Given the description of an element on the screen output the (x, y) to click on. 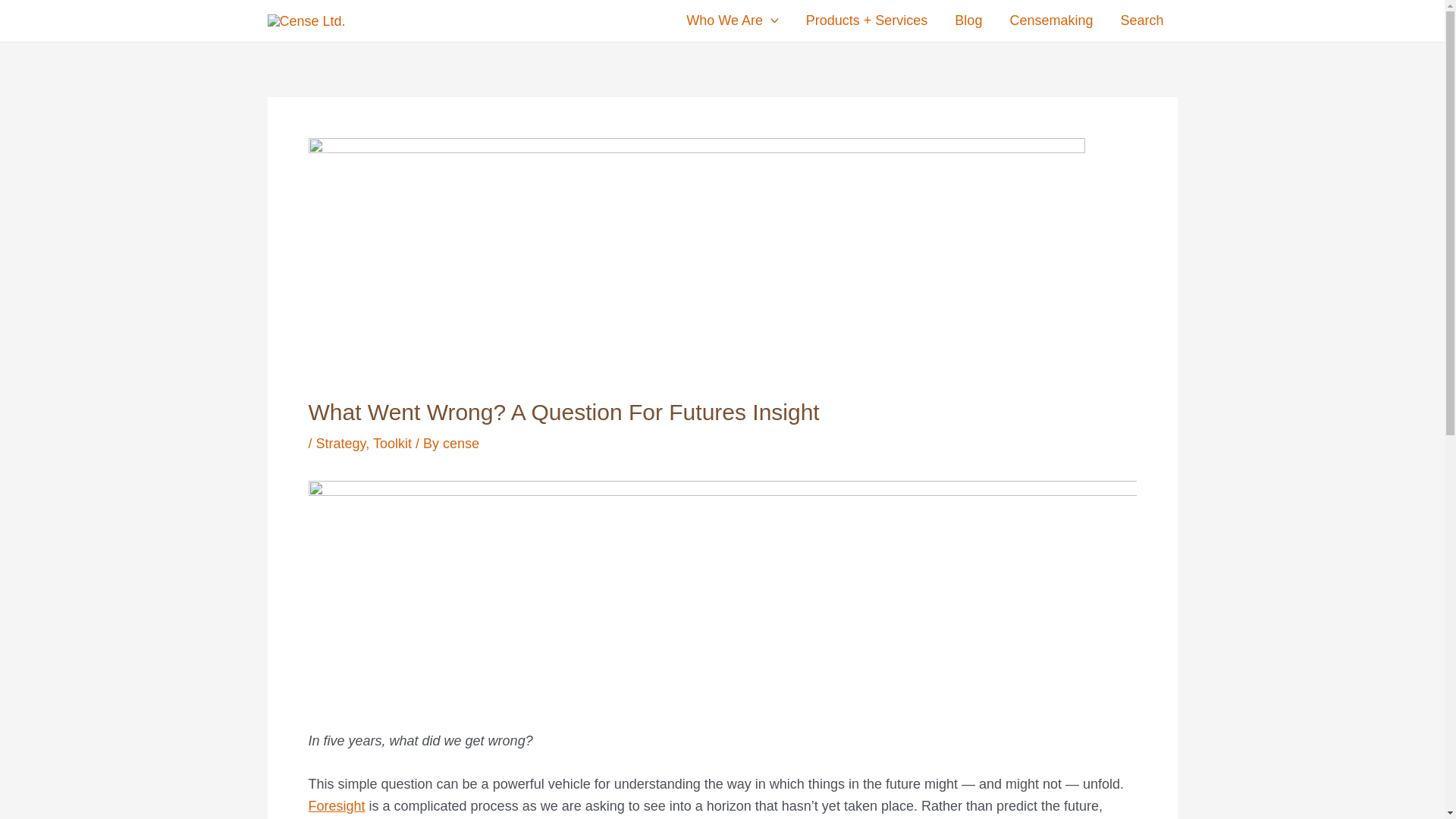
Blog (967, 20)
Search (1141, 20)
Ideas, Innovations, Tools, and Tips (967, 20)
cense (460, 443)
Foresight (336, 806)
Strategy (340, 443)
Your Innovation Coffeehouse (1050, 20)
Who We Are (732, 20)
Censemaking (1050, 20)
Toolkit (392, 443)
View all posts by cense (460, 443)
